Given the description of an element on the screen output the (x, y) to click on. 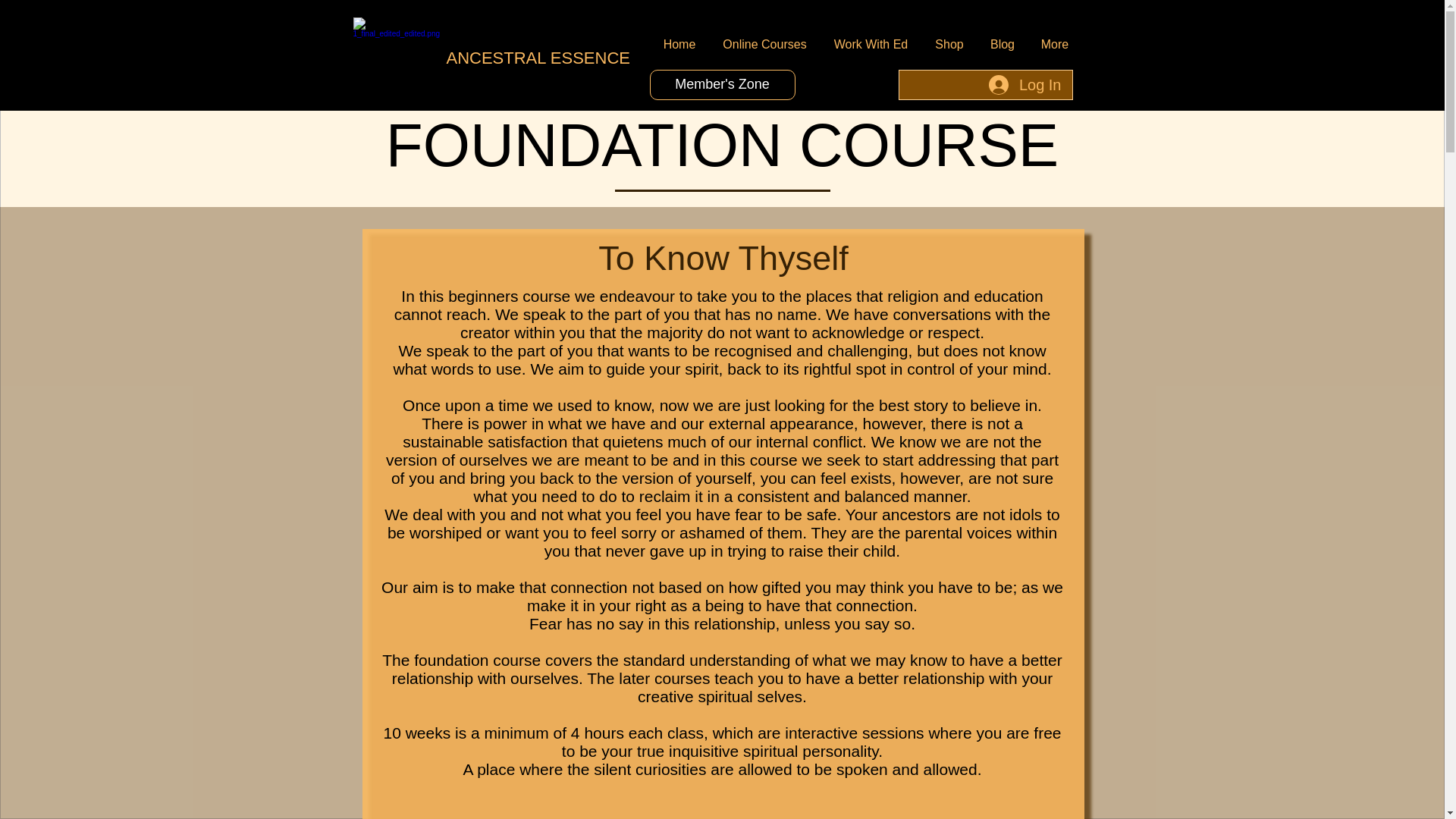
Home (679, 44)
Shop (948, 44)
Member's Zone (721, 84)
Log In (1024, 84)
Blog (1001, 44)
